Given the description of an element on the screen output the (x, y) to click on. 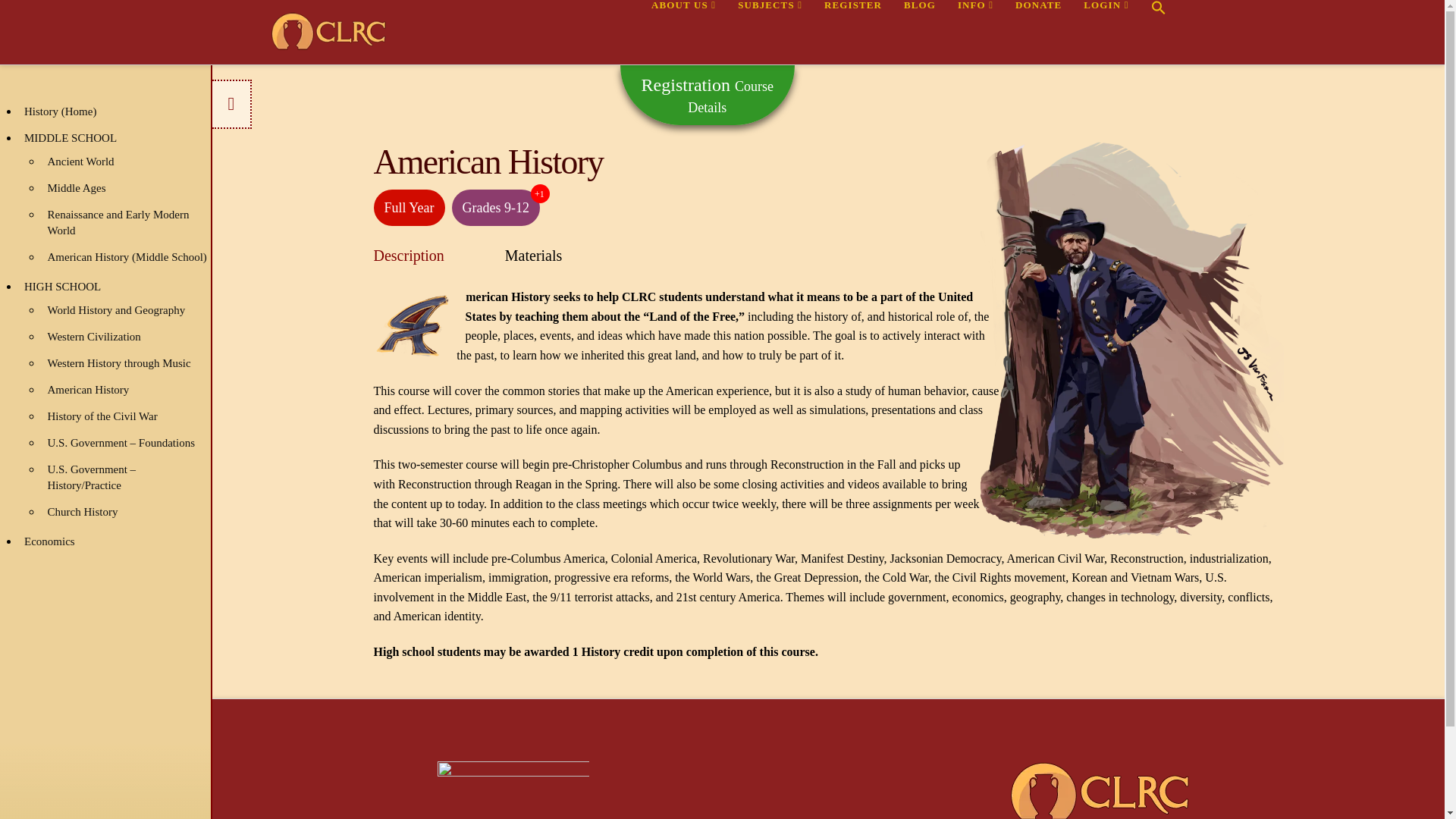
REGISTER (852, 30)
ABOUT US (683, 30)
INFO (975, 30)
SUBJECTS (769, 30)
